Given the description of an element on the screen output the (x, y) to click on. 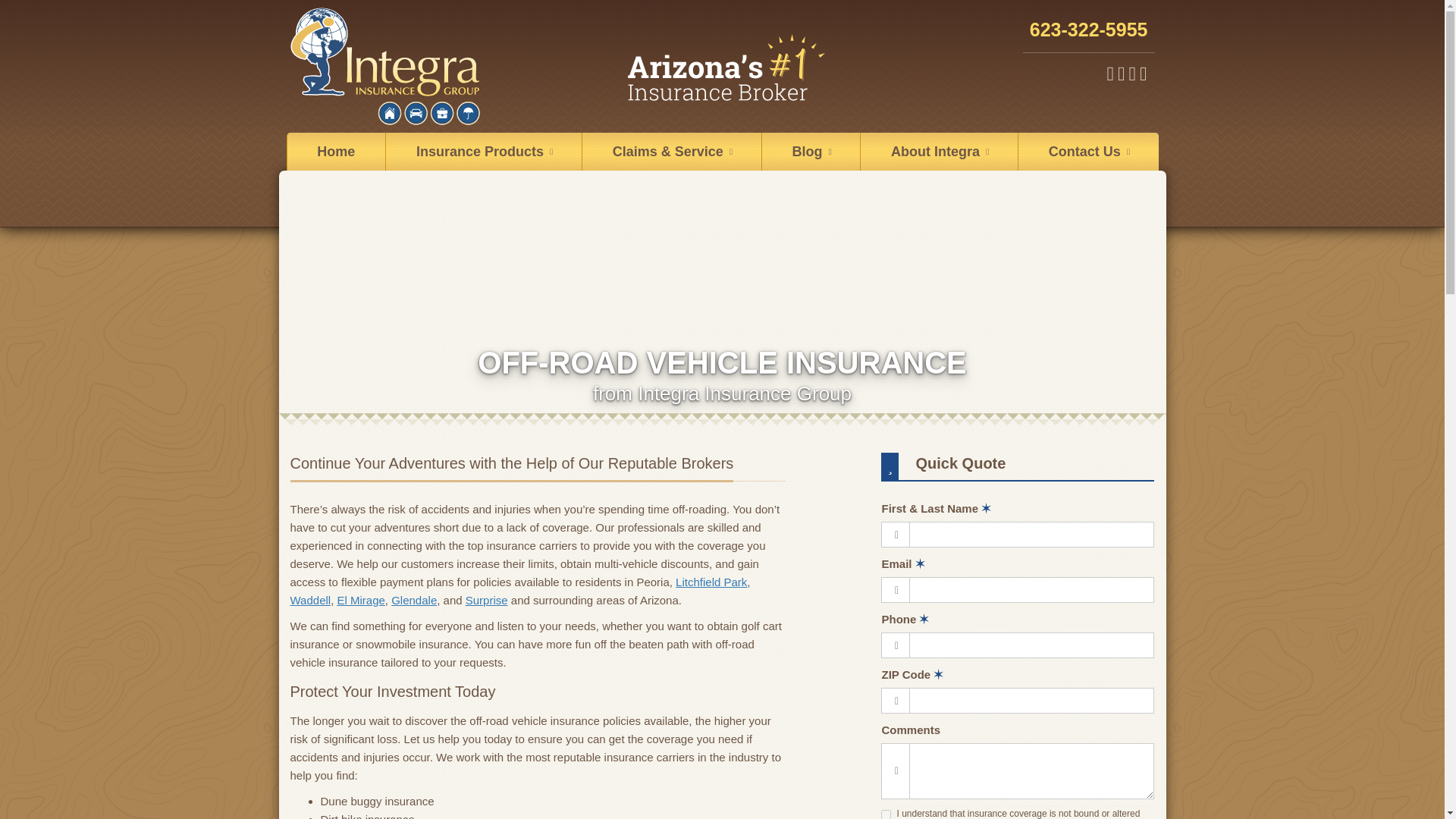
About Integra (938, 151)
Blog (810, 151)
Litchfield Park (710, 581)
Insurance Products (482, 151)
El Mirage (360, 599)
623-322-5955 (1088, 30)
Waddell (309, 599)
Glendale (413, 599)
About Integra (938, 151)
Blog (810, 151)
